Given the description of an element on the screen output the (x, y) to click on. 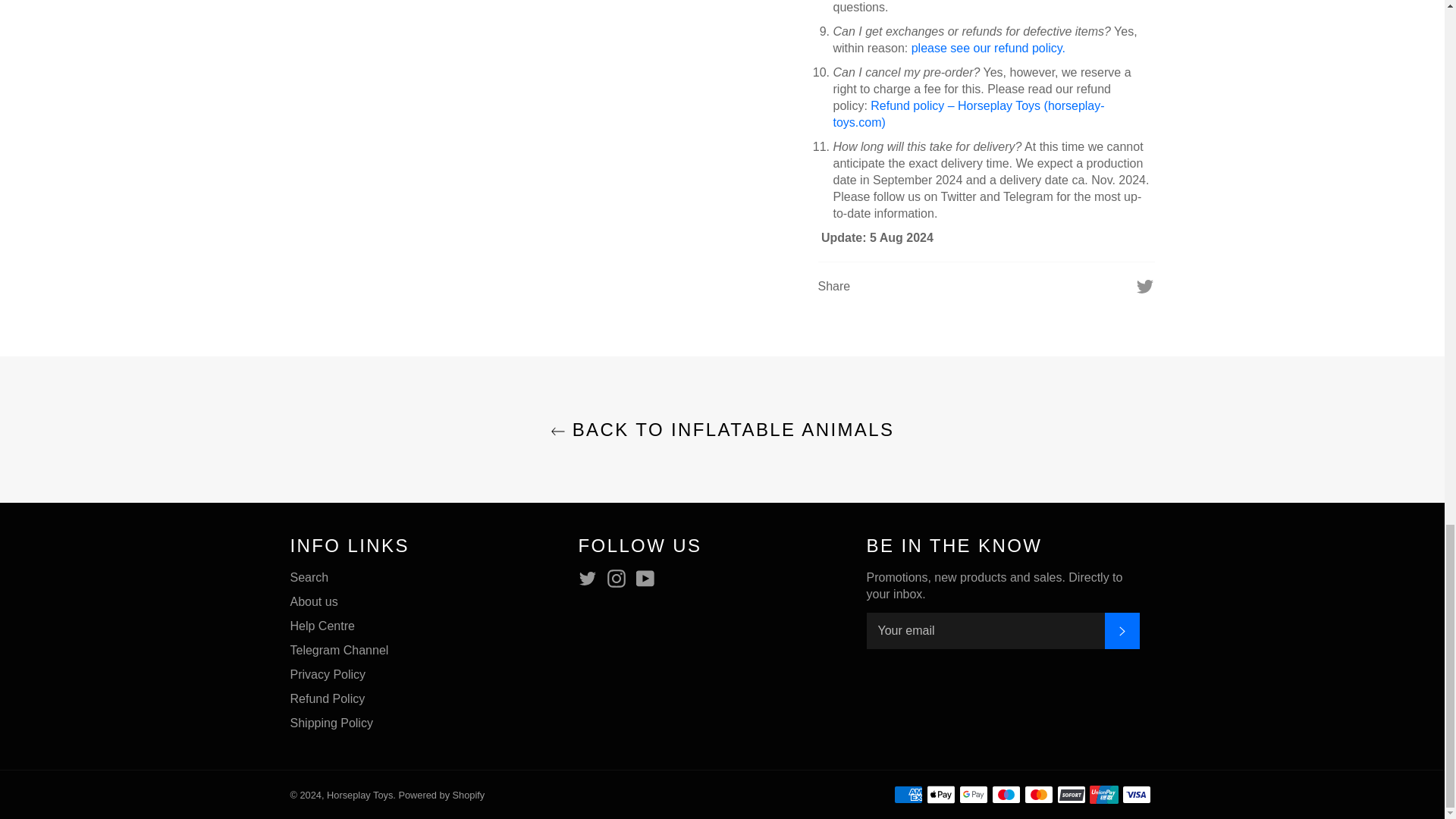
Horseplay Toys on Twitter (591, 578)
Apple Pay (940, 794)
Refund policy (988, 47)
Horseplay Toys on Instagram (620, 578)
Google Pay (972, 794)
Tweet on Twitter (1144, 285)
SOFORT (1071, 794)
Visa (1136, 794)
Maestro (1005, 794)
Union Pay (1103, 794)
